Given the description of an element on the screen output the (x, y) to click on. 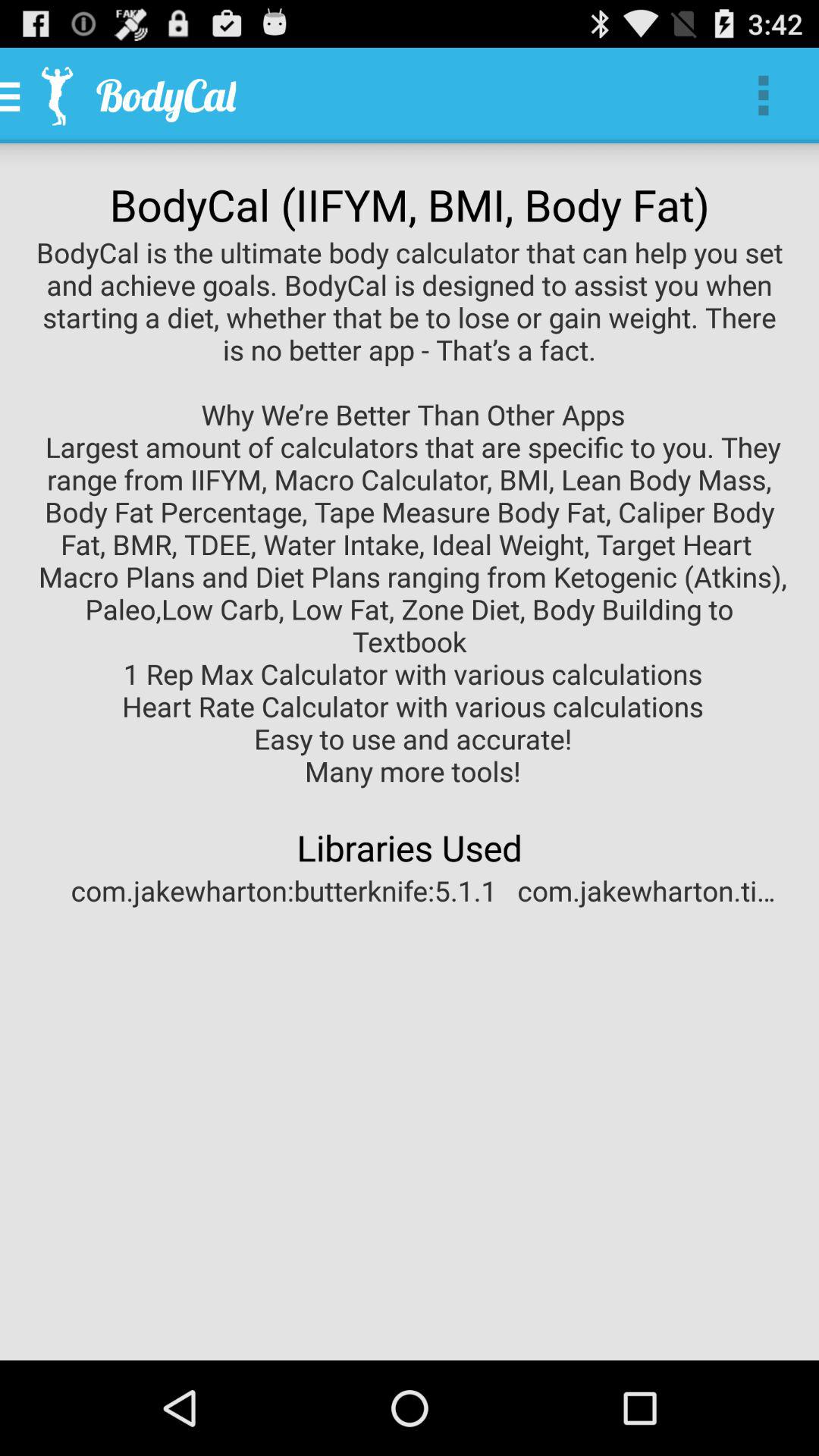
select app above bodycal iifym bmi (763, 95)
